Given the description of an element on the screen output the (x, y) to click on. 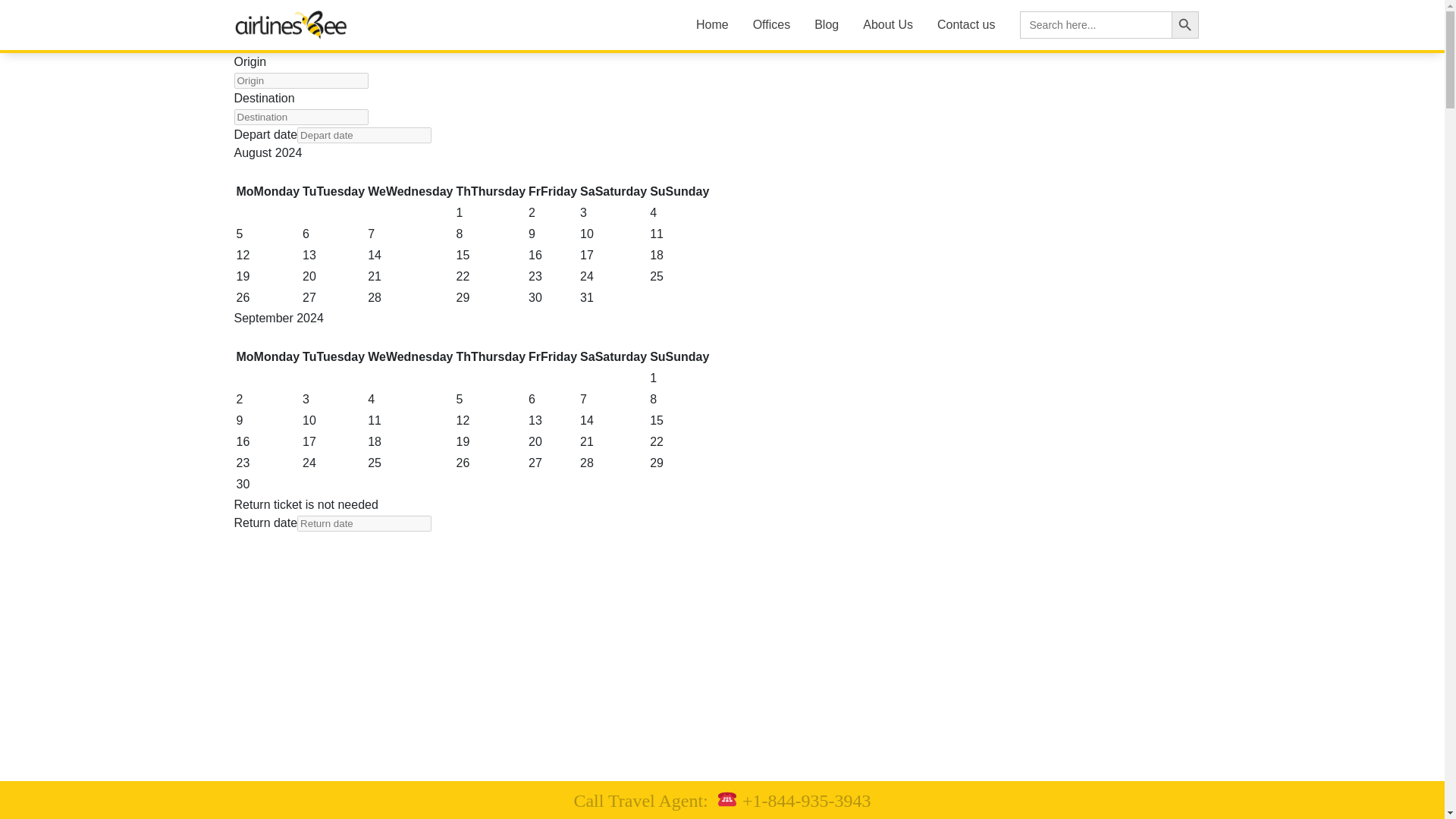
Search Button (1184, 24)
Offices (771, 24)
Home (712, 24)
About Us (887, 24)
Contact us (965, 24)
Blog (825, 24)
